Given the description of an element on the screen output the (x, y) to click on. 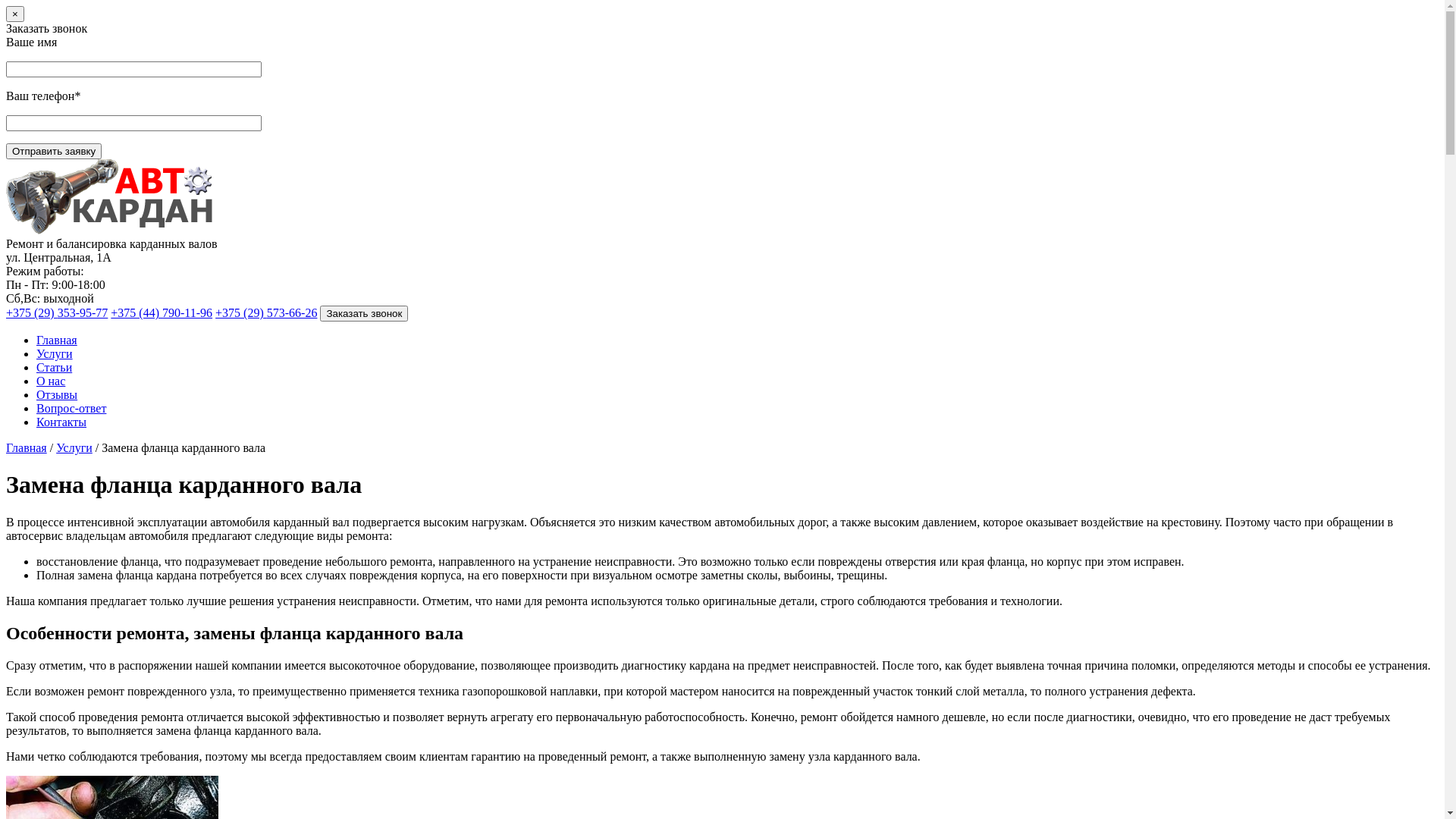
+375 (44) 790-11-96 Element type: text (161, 312)
+375 (29) 573-66-26 Element type: text (265, 312)
+375 (29) 353-95-77 Element type: text (56, 312)
